Given the description of an element on the screen output the (x, y) to click on. 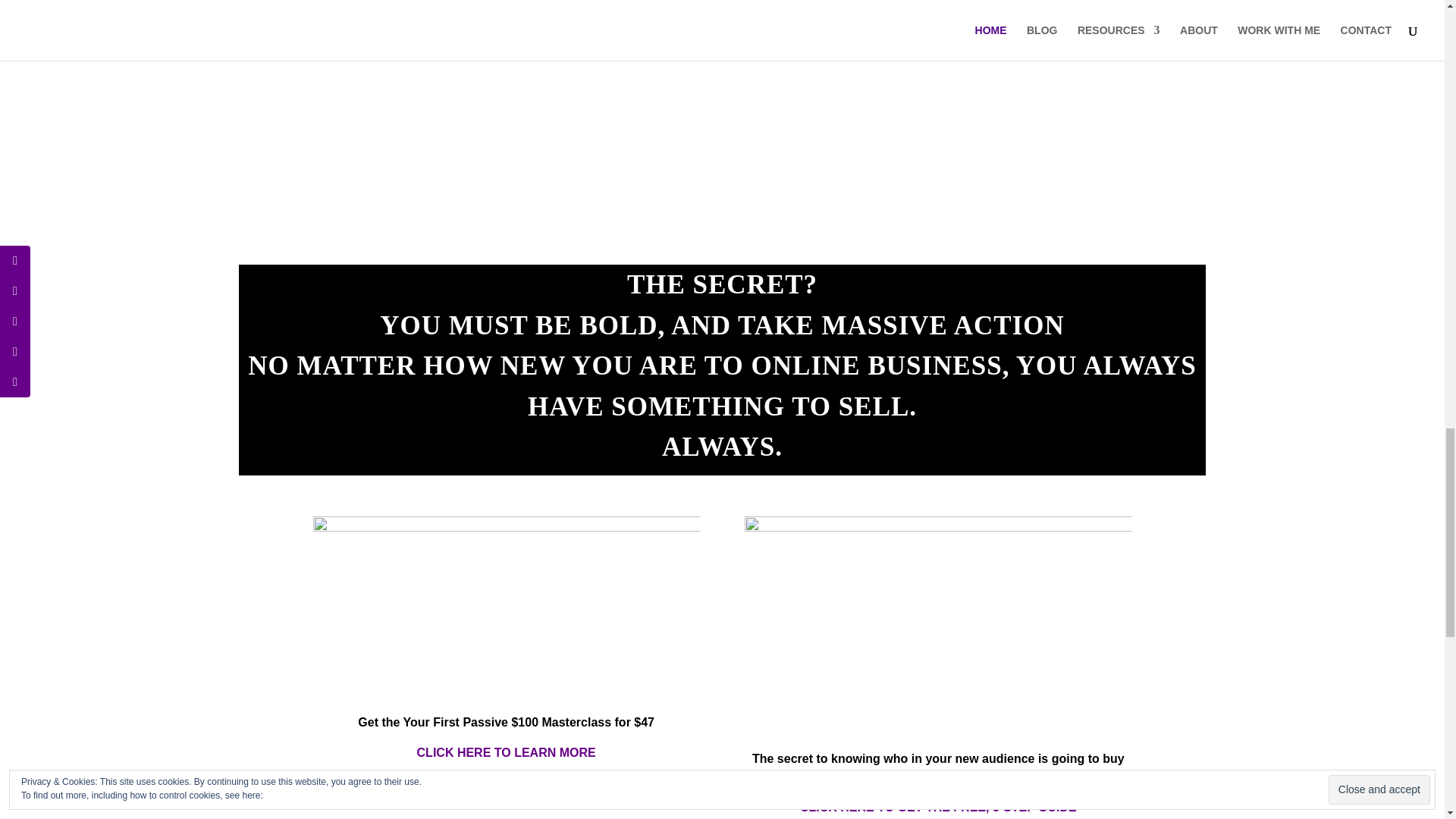
CLICK HERE TO LEARN MORE (505, 752)
Screen Shot 2020-05-02 at 6.02.13 PM (937, 621)
Screen Shot 2020-04-27 at 7.08.43 PM copy (505, 603)
CLICK HERE TO GET THE FREE, 5-STEP GUIDE (938, 807)
